Given the description of an element on the screen output the (x, y) to click on. 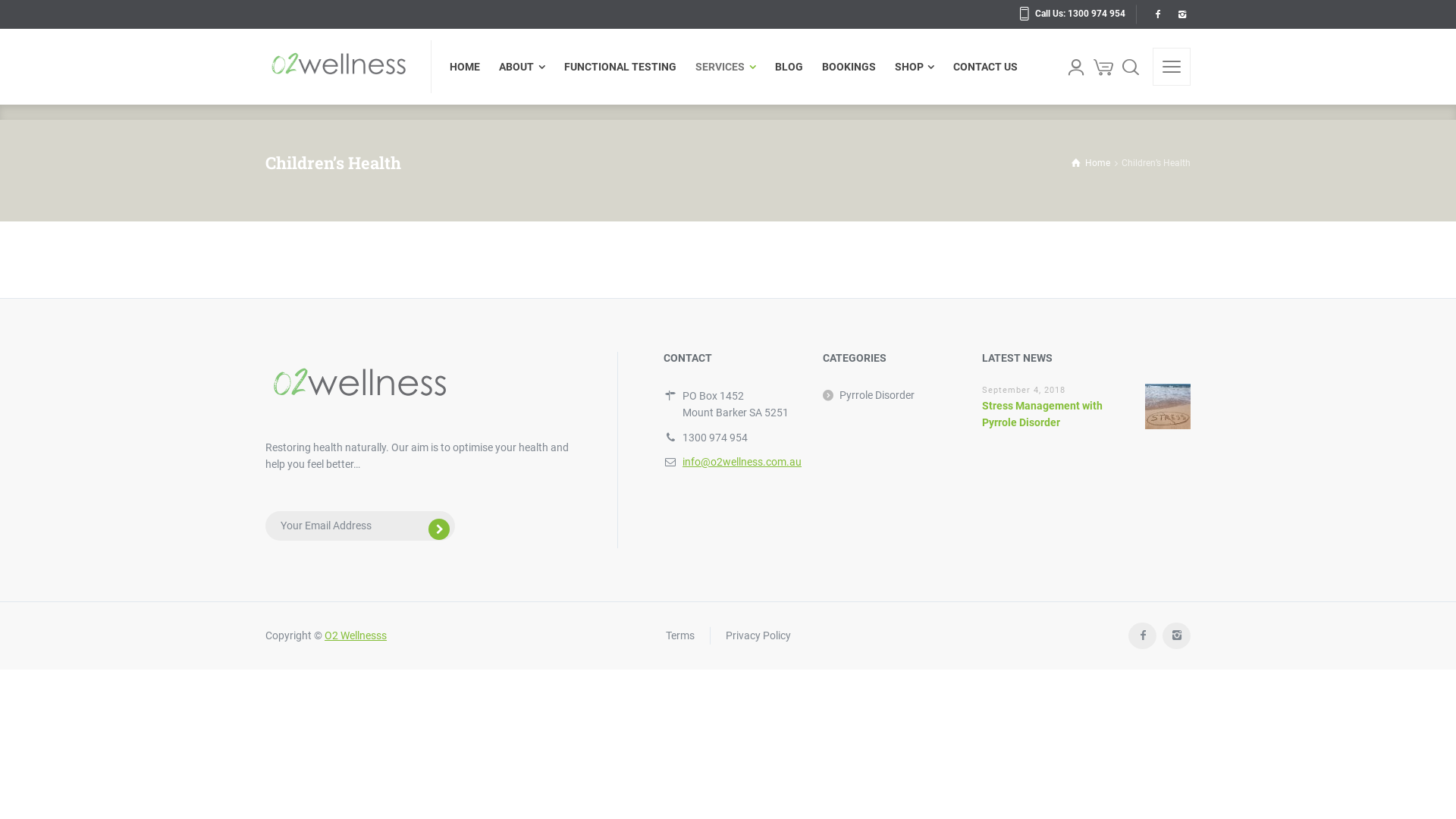
BOOKINGS Element type: text (848, 66)
Instagram Element type: hover (1176, 635)
O2 Wellnesss Element type: text (355, 635)
SHOP Element type: text (914, 66)
SERVICES Element type: text (725, 66)
Stress Management with Pyrrole Disorder Element type: text (1042, 413)
Call Us: 1300 974 954 Element type: text (1072, 13)
HOME Element type: text (469, 66)
Privacy Policy Element type: text (757, 635)
Search Element type: hover (1130, 66)
Terms Element type: text (679, 635)
Facebook Element type: hover (1142, 635)
Facebook Element type: hover (1157, 14)
BLOG Element type: text (788, 66)
Instagram Element type: hover (1181, 14)
Home Element type: text (1090, 162)
O2 Wellness Element type: hover (338, 66)
CONTACT US Element type: text (980, 66)
Pyrrole Disorder Element type: text (868, 394)
FUNCTIONAL TESTING Element type: text (620, 66)
info@o2wellness.com.au Element type: text (741, 461)
ABOUT Element type: text (522, 66)
